Given the description of an element on the screen output the (x, y) to click on. 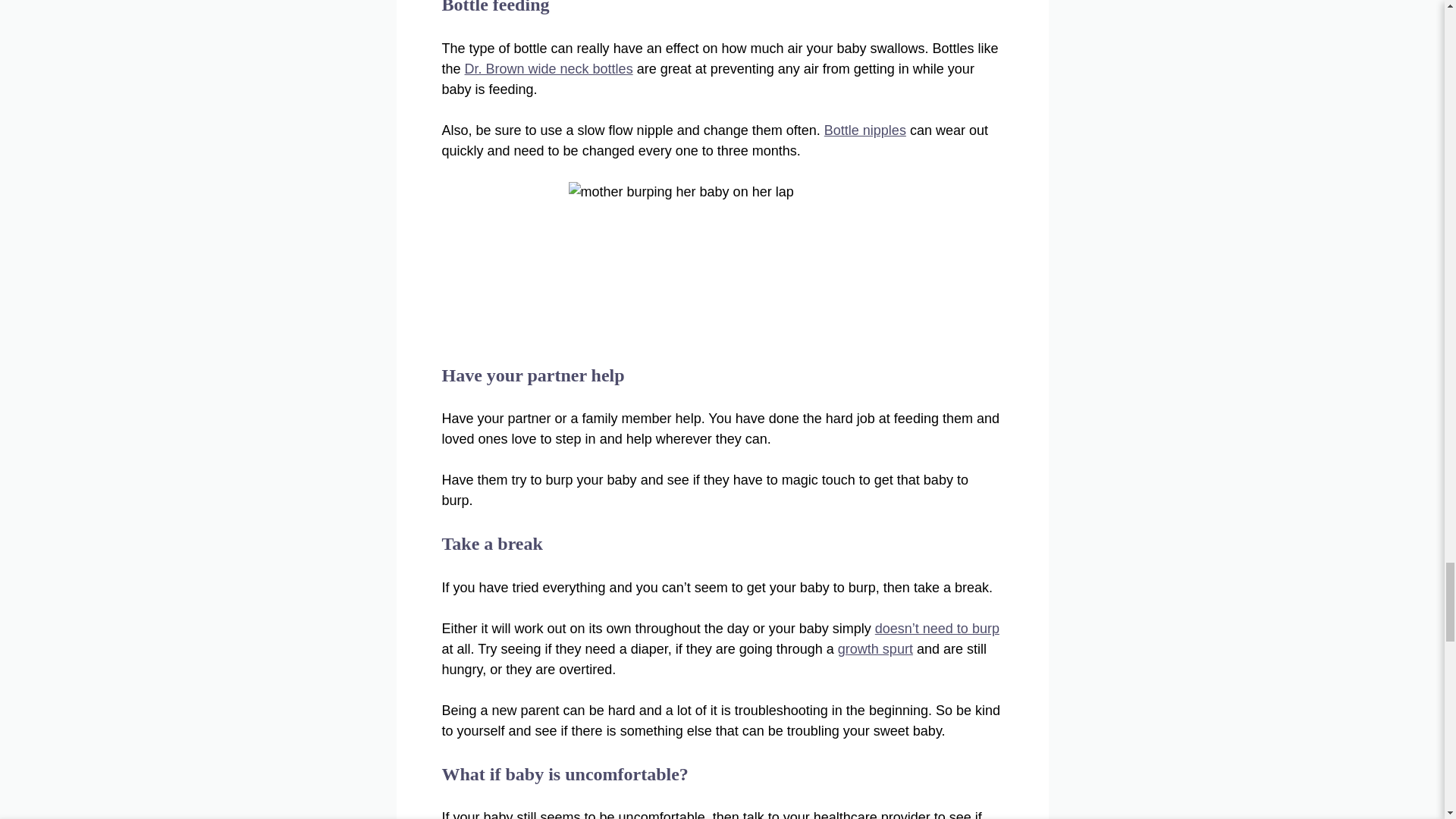
Bottle nipples (864, 130)
Dr. Brown wide neck bottles (548, 68)
growth spurt (875, 648)
